Given the description of an element on the screen output the (x, y) to click on. 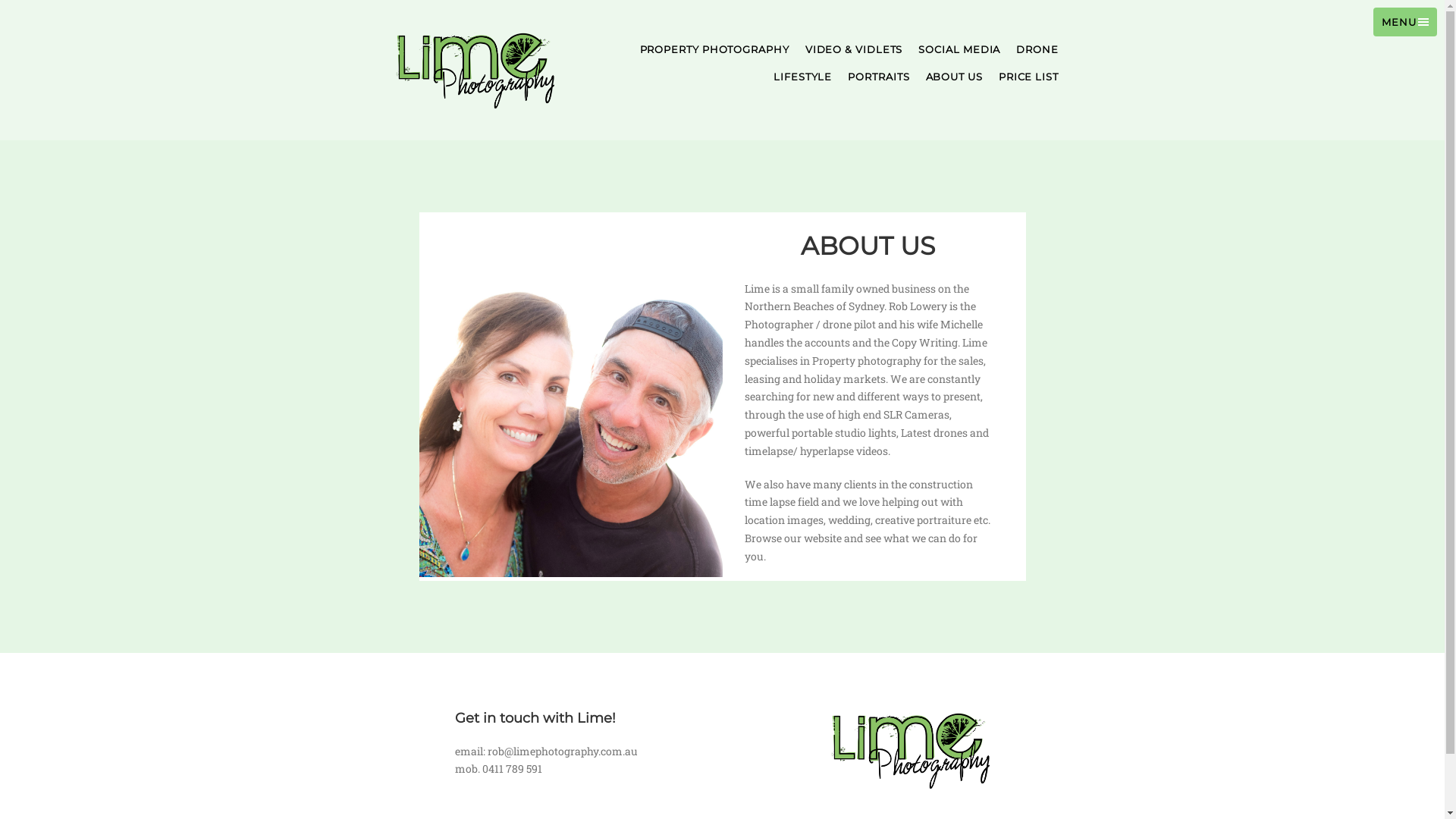
DRONE Element type: text (1037, 49)
LIFESTYLE Element type: text (802, 76)
VIDEO & VIDLETS Element type: text (854, 49)
PROPERTY PHOTOGRAPHY Element type: text (714, 49)
SOCIAL MEDIA Element type: text (959, 49)
PRICE LIST Element type: text (1028, 76)
ABOUT US Element type: text (953, 76)
PORTRAITS Element type: text (878, 76)
